Given the description of an element on the screen output the (x, y) to click on. 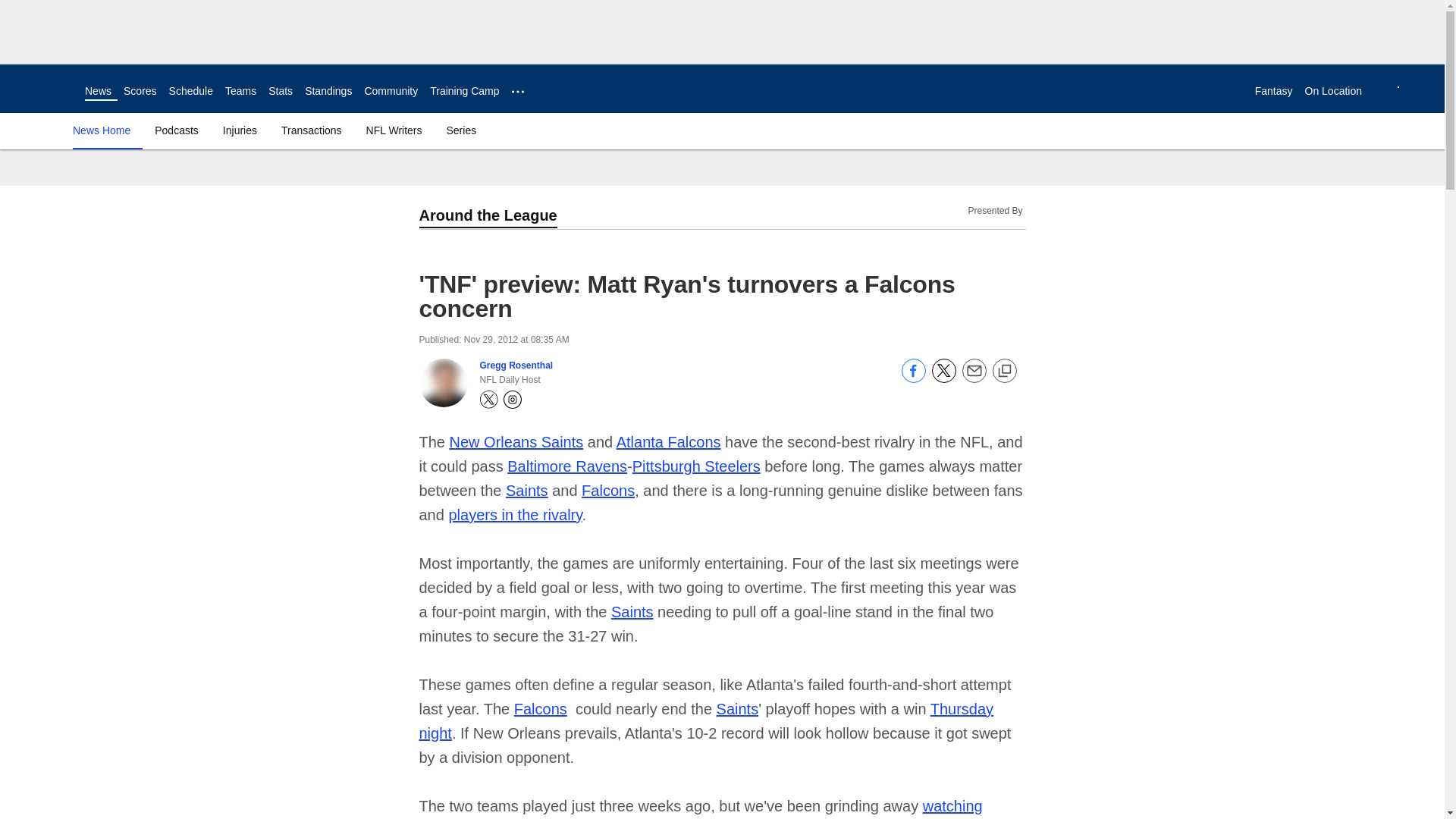
Teams (240, 91)
Scores (140, 91)
Teams (240, 91)
Link to NFL homepage (42, 88)
Scores (140, 91)
Schedule (190, 91)
News (98, 91)
Stats (279, 91)
News (98, 91)
Schedule (190, 91)
